Given the description of an element on the screen output the (x, y) to click on. 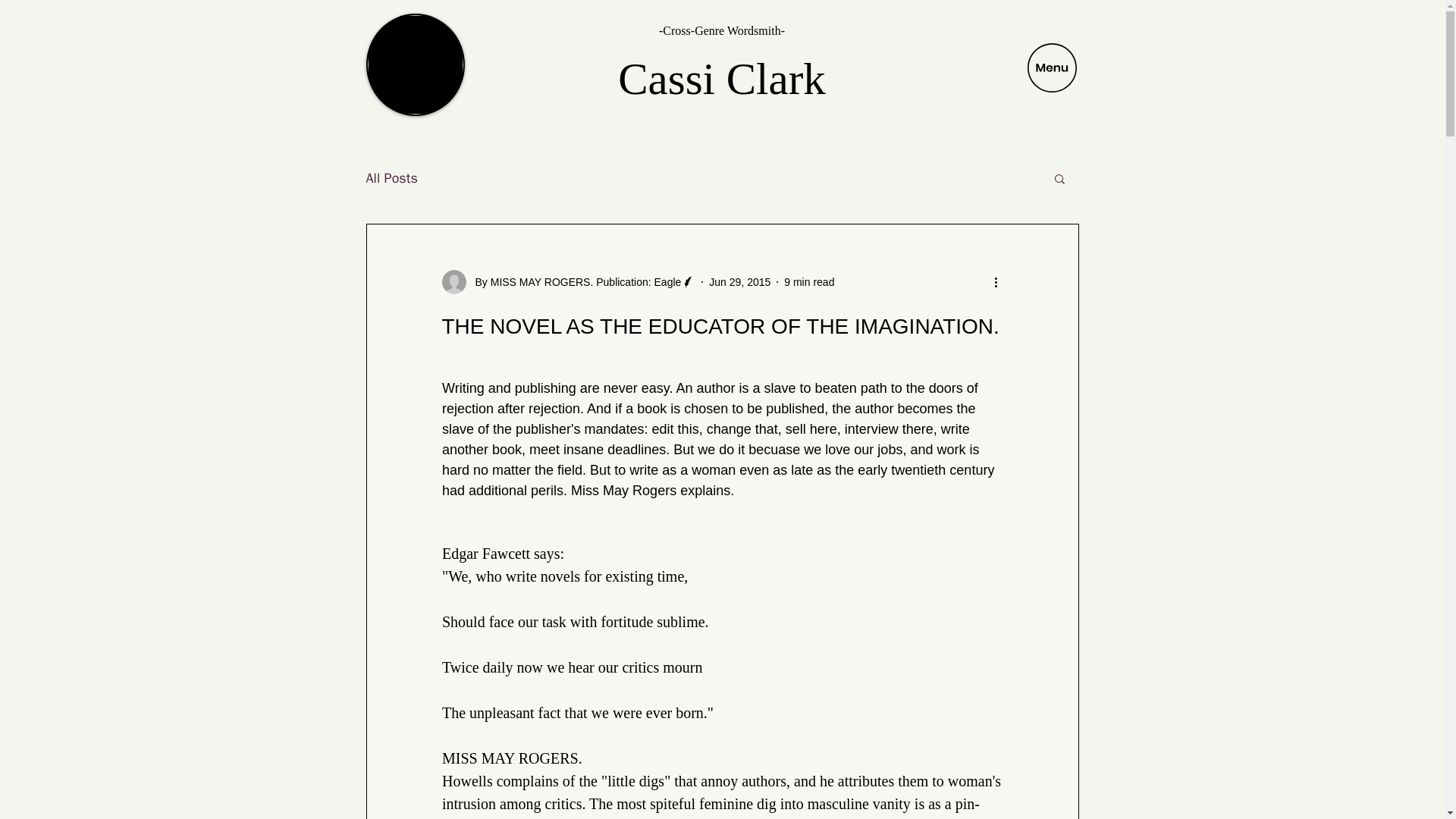
By MISS MAY ROGERS. Publication: Eagle (573, 282)
Jun 29, 2015 (739, 282)
9 min read (809, 282)
Cassi Clark (721, 79)
All Posts (390, 177)
By MISS MAY ROGERS. Publication: Eagle (568, 282)
WardHuntGDV-8357.jpg (414, 64)
